Given the description of an element on the screen output the (x, y) to click on. 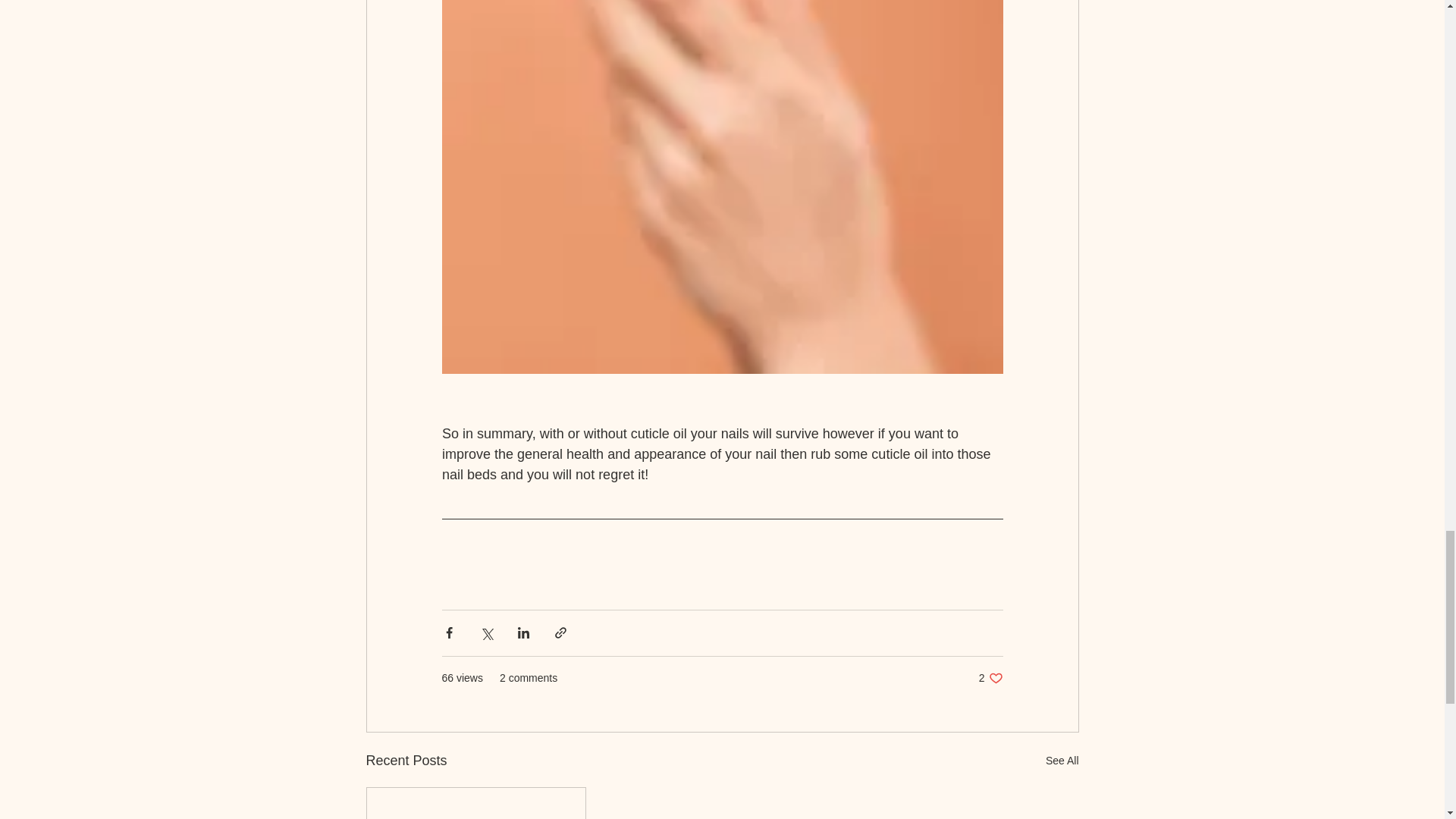
See All (1061, 761)
